Given the description of an element on the screen output the (x, y) to click on. 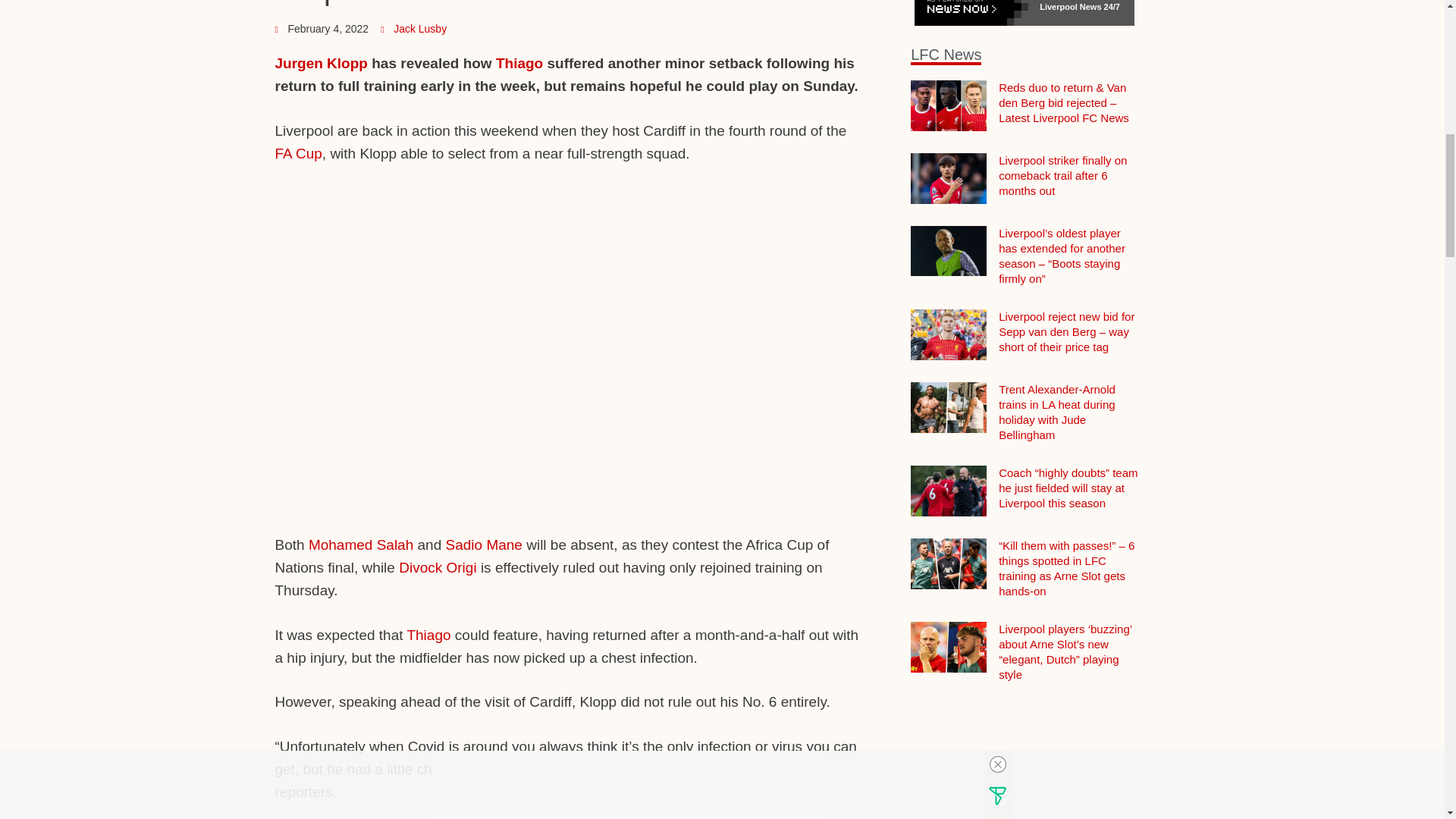
Thiago (519, 63)
